Given the description of an element on the screen output the (x, y) to click on. 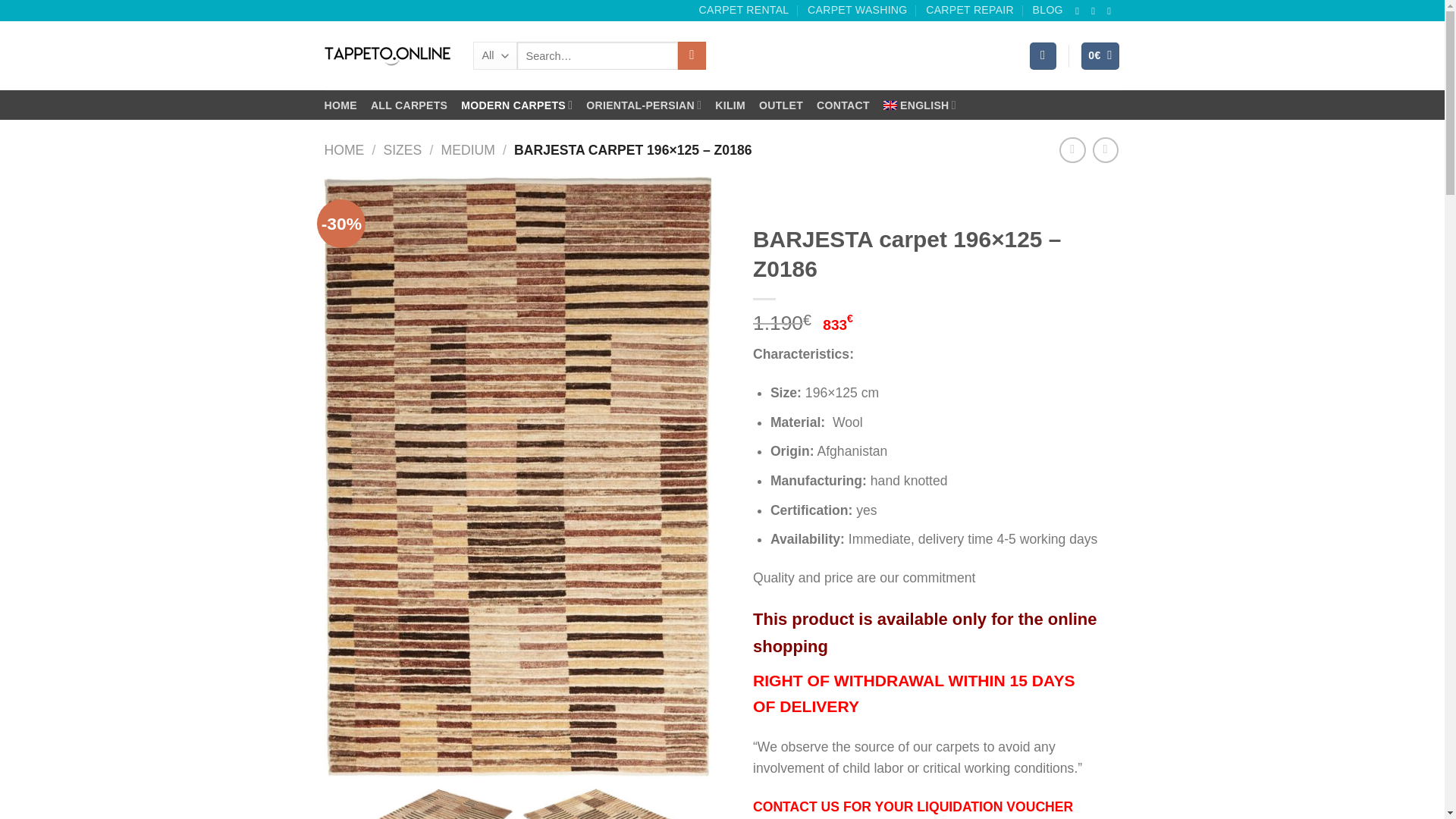
CARPET REPAIR (969, 9)
BLOG (1047, 9)
MEDIUM (468, 150)
CARPET RENTAL (743, 9)
Login (1043, 55)
CARPET WASHING (857, 9)
ORIENTAL-PERSIAN (643, 104)
SIZES (402, 150)
Search (691, 55)
Cart (1099, 55)
